Given the description of an element on the screen output the (x, y) to click on. 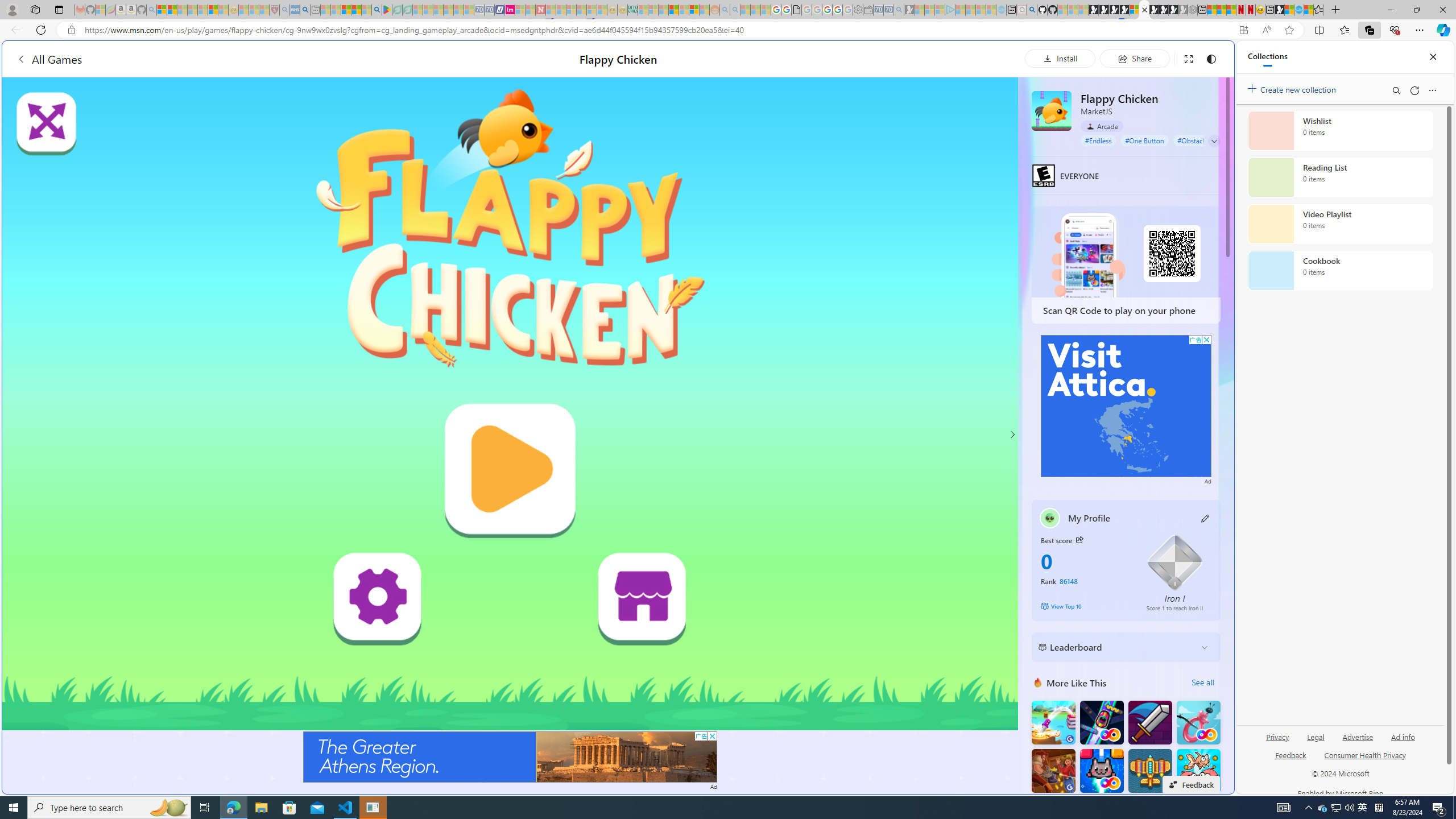
Create new collection (1293, 87)
Tabs you've opened (885, 151)
See all (1202, 682)
AutomationID: cbb (1206, 339)
#Endless (1098, 140)
